Given the description of an element on the screen output the (x, y) to click on. 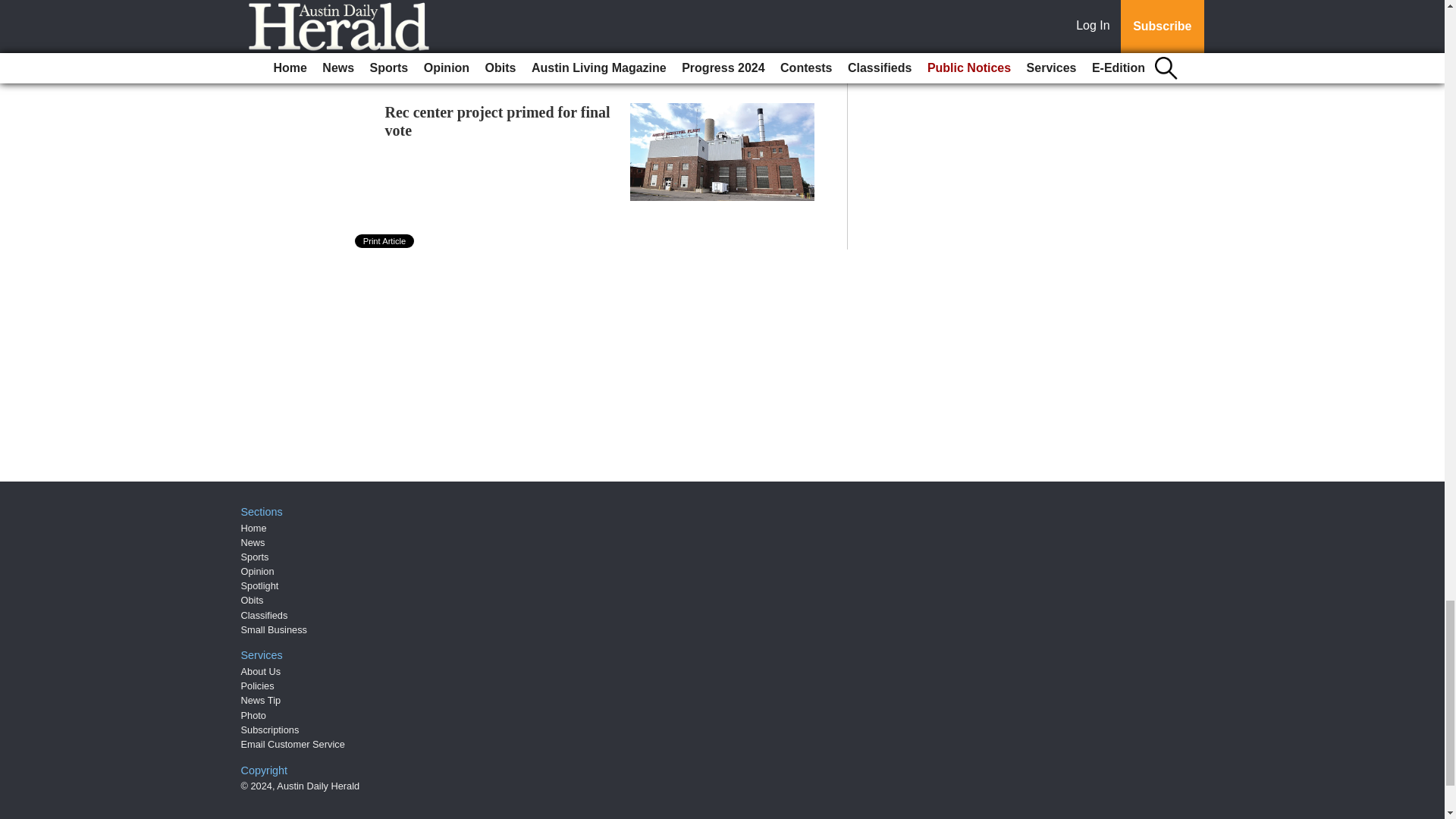
Rec center project primed for final vote (497, 121)
